Given the description of an element on the screen output the (x, y) to click on. 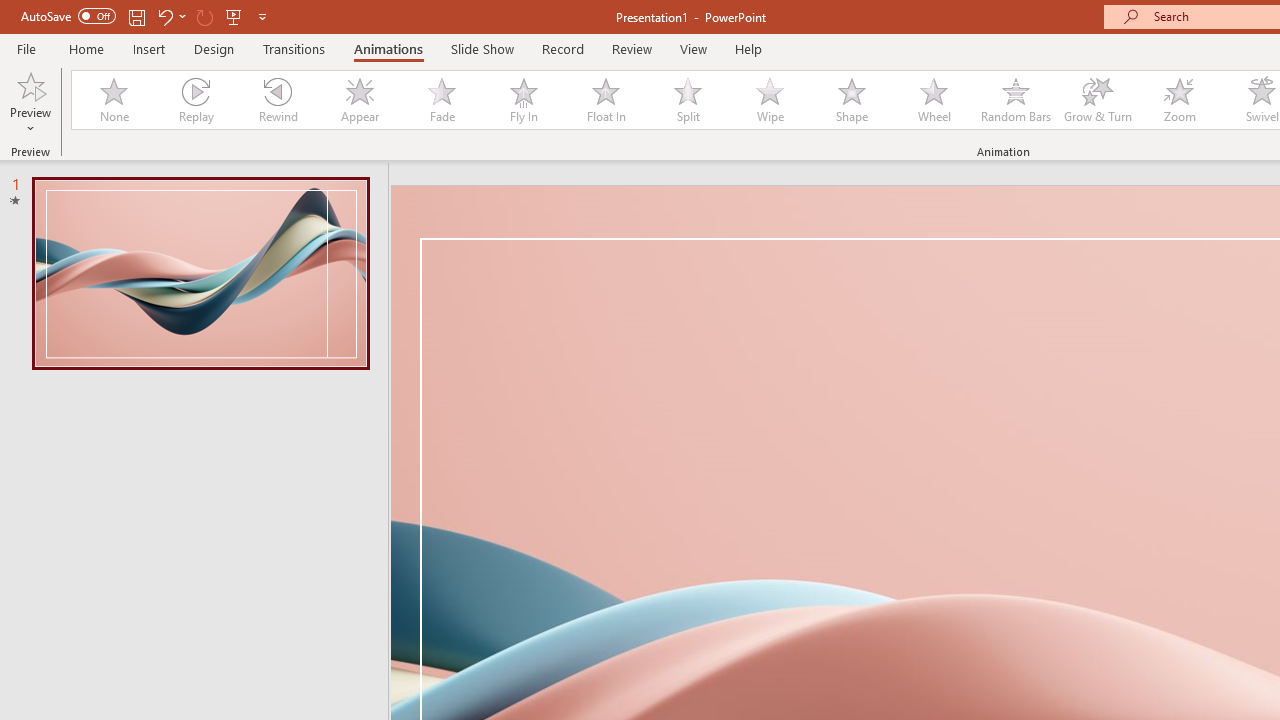
Rewind (277, 100)
Wheel (934, 100)
Shape (852, 100)
Split (687, 100)
None (113, 100)
Grow & Turn (1098, 100)
